Given the description of an element on the screen output the (x, y) to click on. 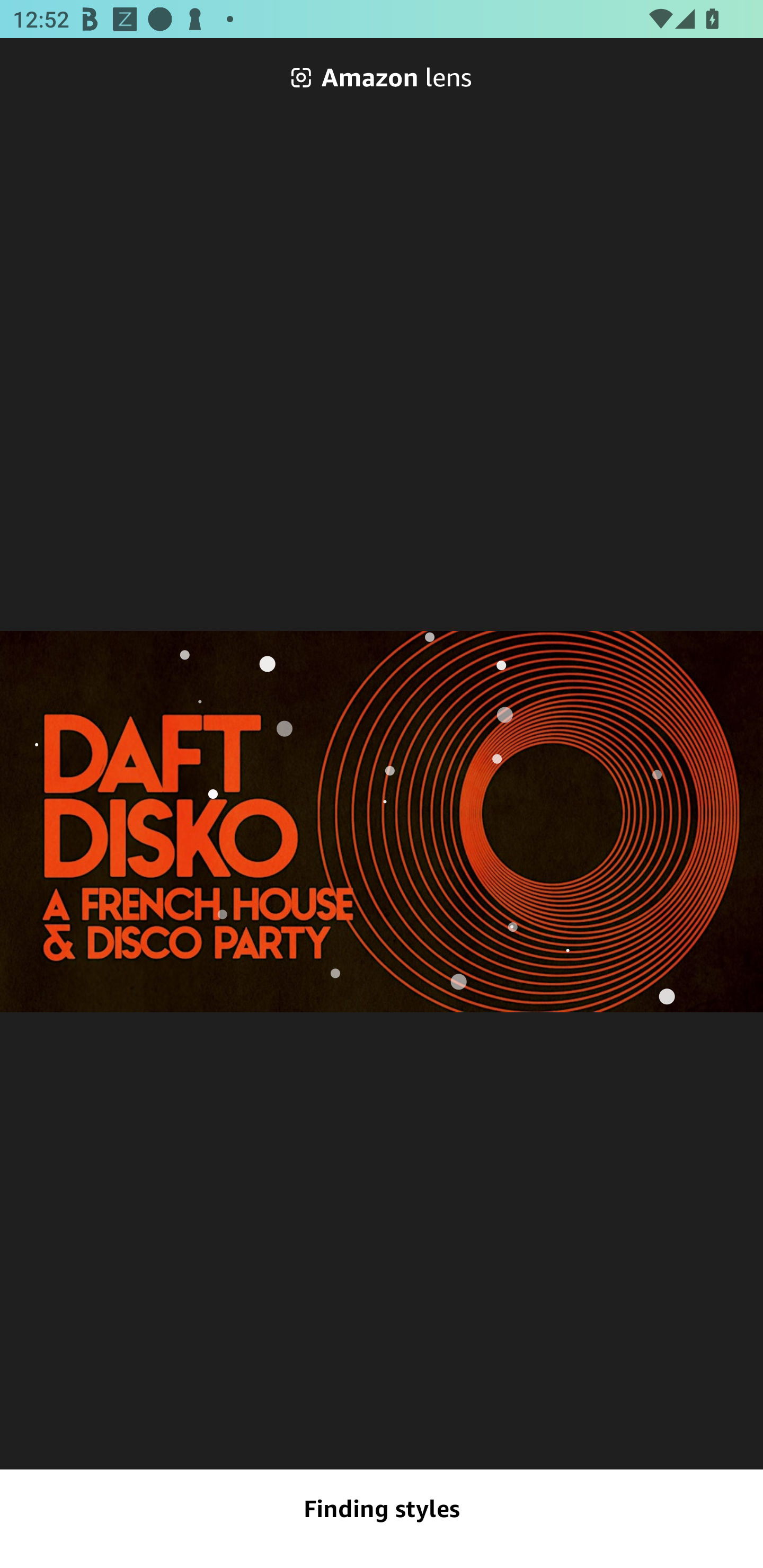
Finding styles (381, 1509)
